Given the description of an element on the screen output the (x, y) to click on. 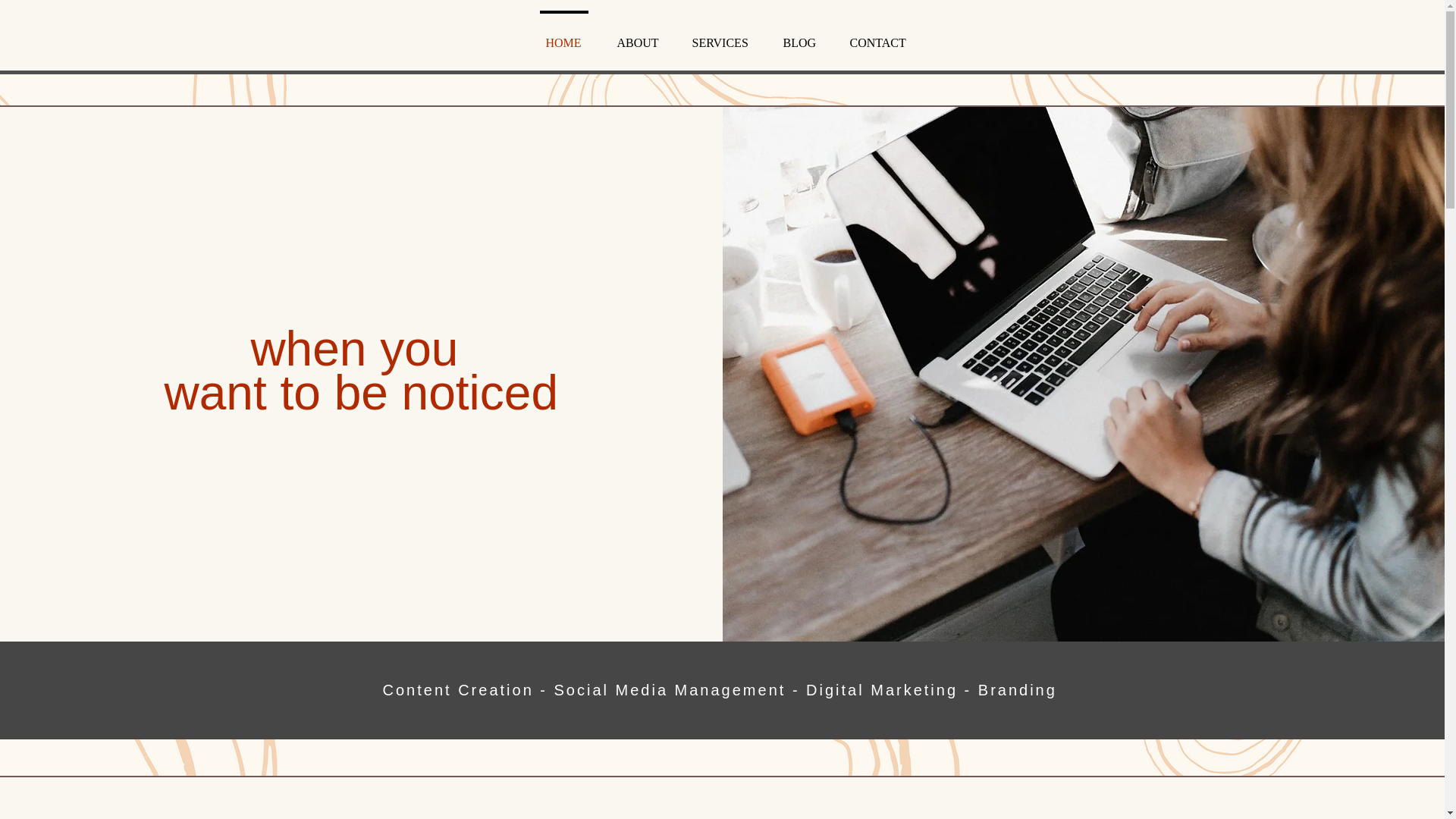
CONTACT (877, 35)
HOME (562, 35)
BLOG (798, 35)
SERVICES (720, 35)
ABOUT (636, 35)
